Given the description of an element on the screen output the (x, y) to click on. 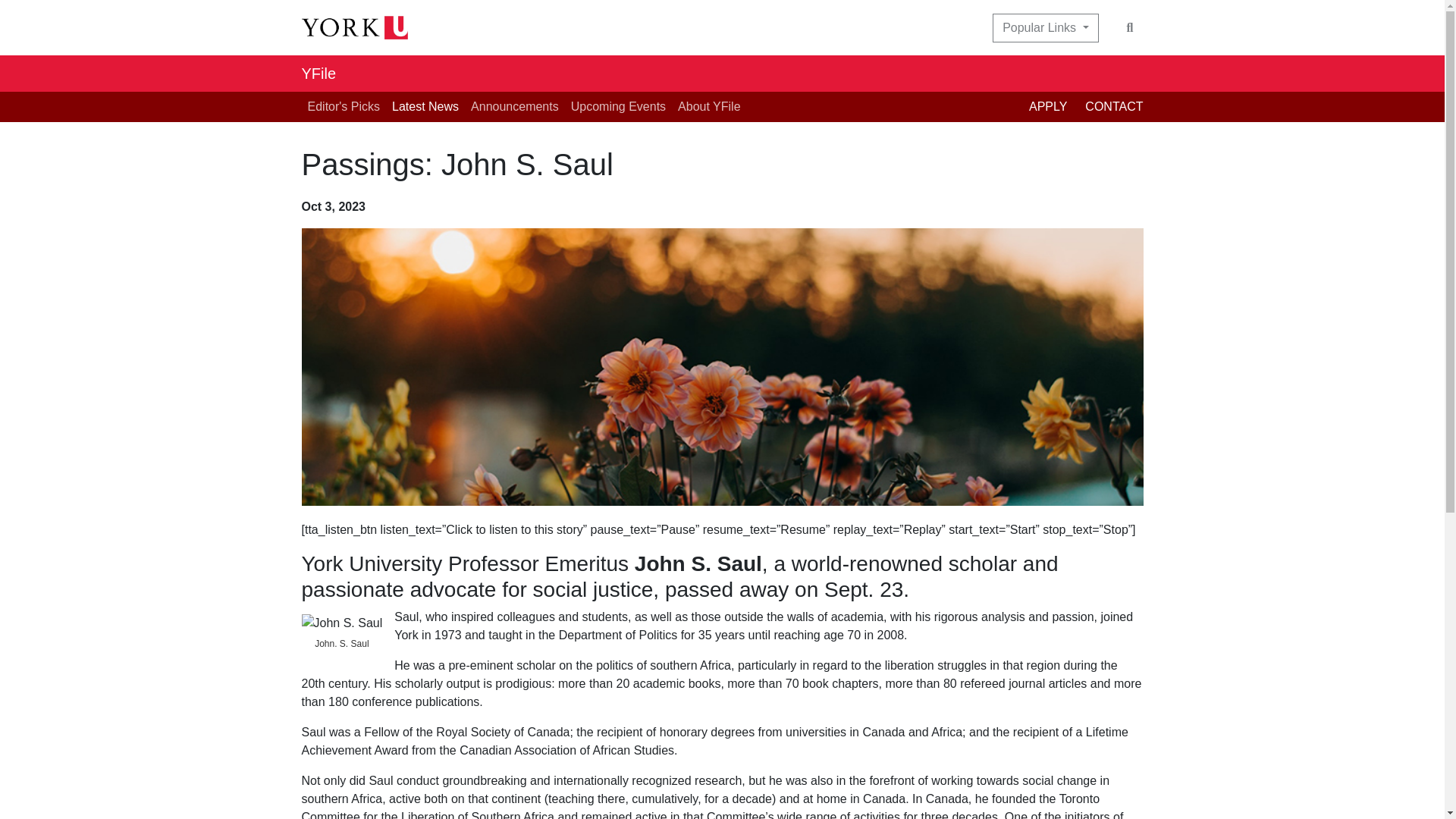
About YFile (708, 106)
Upcoming Events (617, 106)
YFile (318, 73)
APPLY (1056, 106)
Announcements (514, 106)
Editor's Picks (344, 106)
John S. Saul (341, 623)
CONTACT (1113, 106)
Search (1129, 27)
Latest News (424, 106)
